Given the description of an element on the screen output the (x, y) to click on. 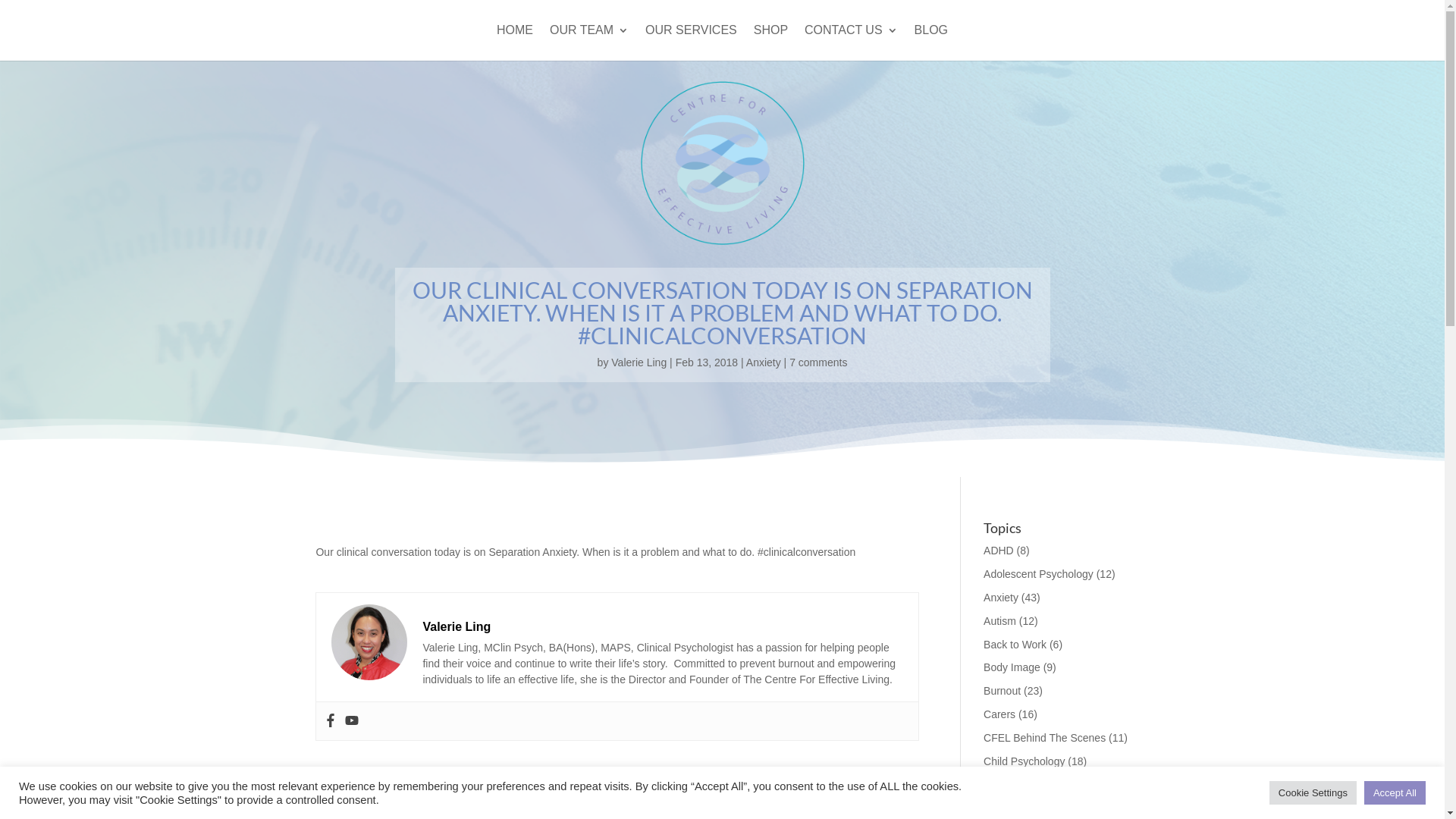
Facebook Element type: hover (330, 720)
7 comments Element type: text (818, 362)
Anxiety Element type: text (1000, 597)
Children Element type: text (1002, 784)
SHOP Element type: text (770, 42)
OUR TEAM Element type: text (588, 42)
Back to Work Element type: text (1014, 644)
Youtube Element type: hover (351, 720)
Valerie Ling Element type: text (638, 362)
Christmas and Holidays Element type: text (1039, 807)
Adolescent Psychology Element type: text (1038, 573)
BLOG Element type: text (930, 42)
Valerie Ling Element type: text (456, 625)
Body Image Element type: text (1011, 667)
Cookie Settings Element type: text (1312, 792)
ADHD Element type: text (998, 550)
CFEL Behind The Scenes Element type: text (1044, 737)
HOME Element type: text (514, 42)
Child Psychology Element type: text (1023, 761)
CONTACT US Element type: text (850, 42)
Carers Element type: text (999, 714)
Anxiety Element type: text (763, 362)
Accept All Element type: text (1394, 792)
OUR SERVICES Element type: text (691, 42)
Autism Element type: text (999, 621)
Burnout Element type: text (1001, 690)
